Given the description of an element on the screen output the (x, y) to click on. 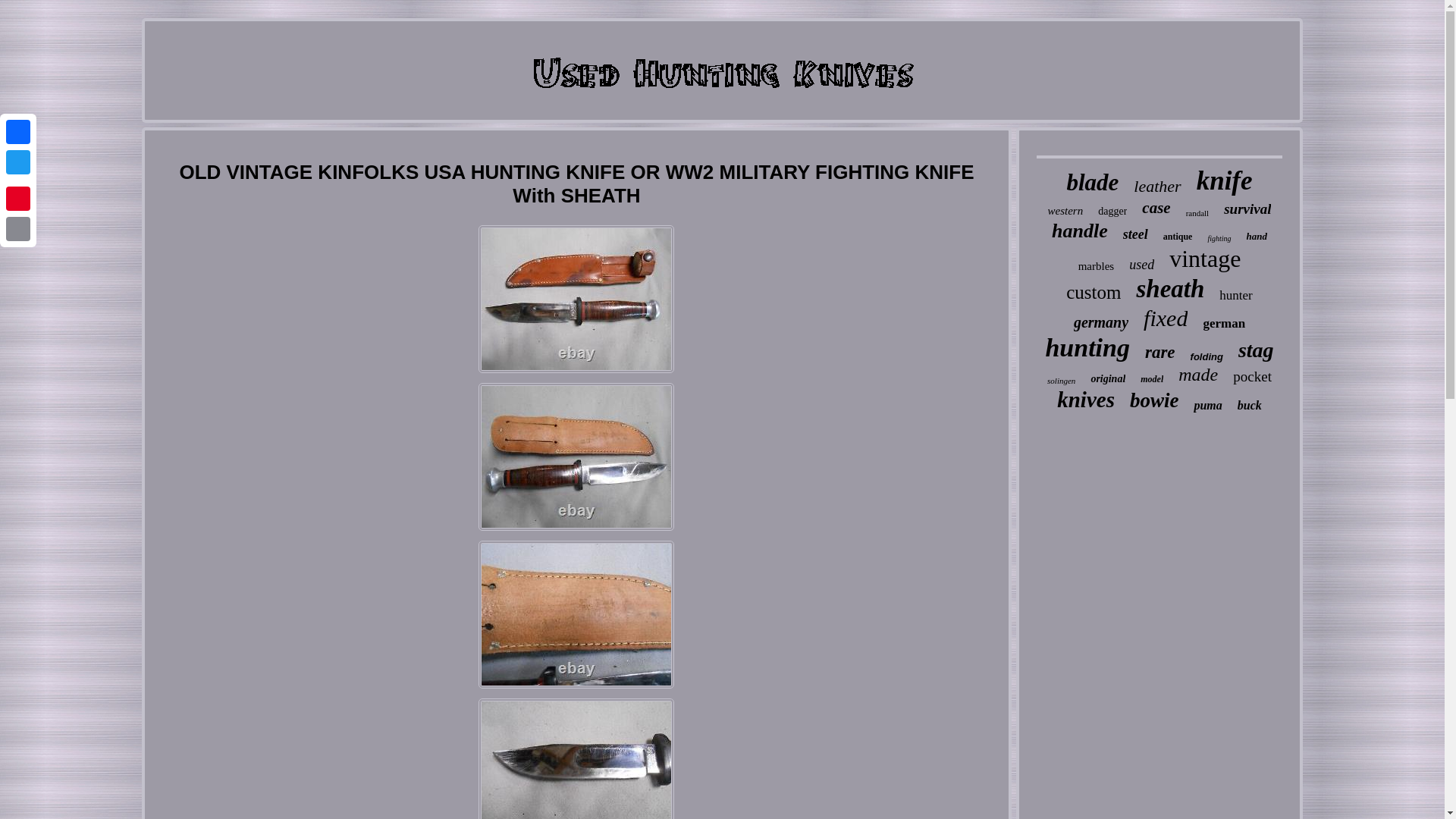
marbles (1095, 266)
rare (1159, 352)
handle (1079, 231)
solingen (1060, 379)
survival (1247, 208)
Twitter (17, 162)
Facebook (17, 132)
dagger (1111, 211)
knife (1224, 181)
